Given the description of an element on the screen output the (x, y) to click on. 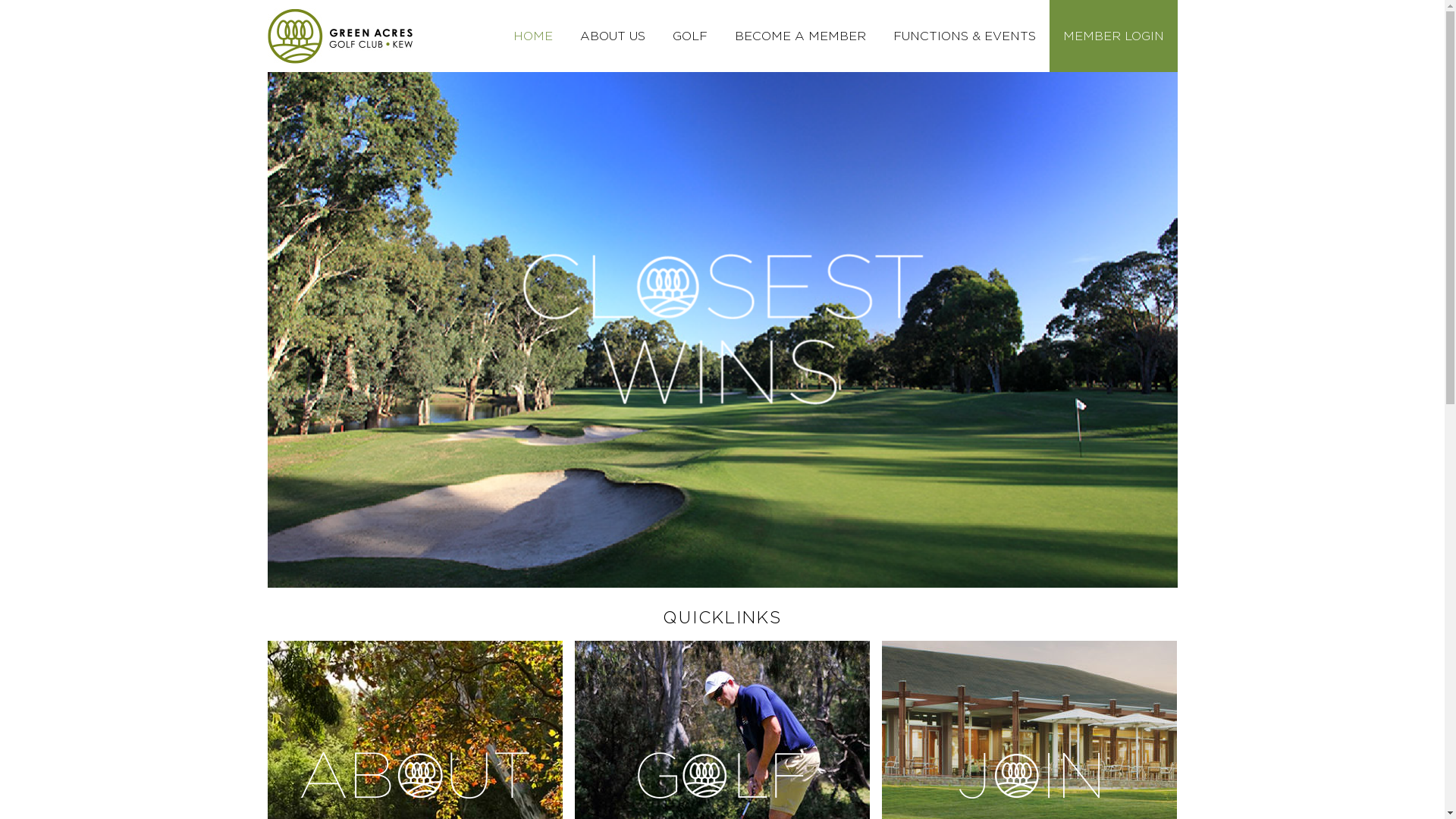
ABOUT US Element type: text (611, 36)
MEMBER LOGIN Element type: text (1113, 36)
PLAY VIDEO TOUR Element type: text (722, 427)
HOME Element type: text (531, 36)
FUNCTIONS & EVENTS Element type: text (964, 36)
BECOME A MEMBER Element type: text (799, 36)
GOLF Element type: text (689, 36)
